Given the description of an element on the screen output the (x, y) to click on. 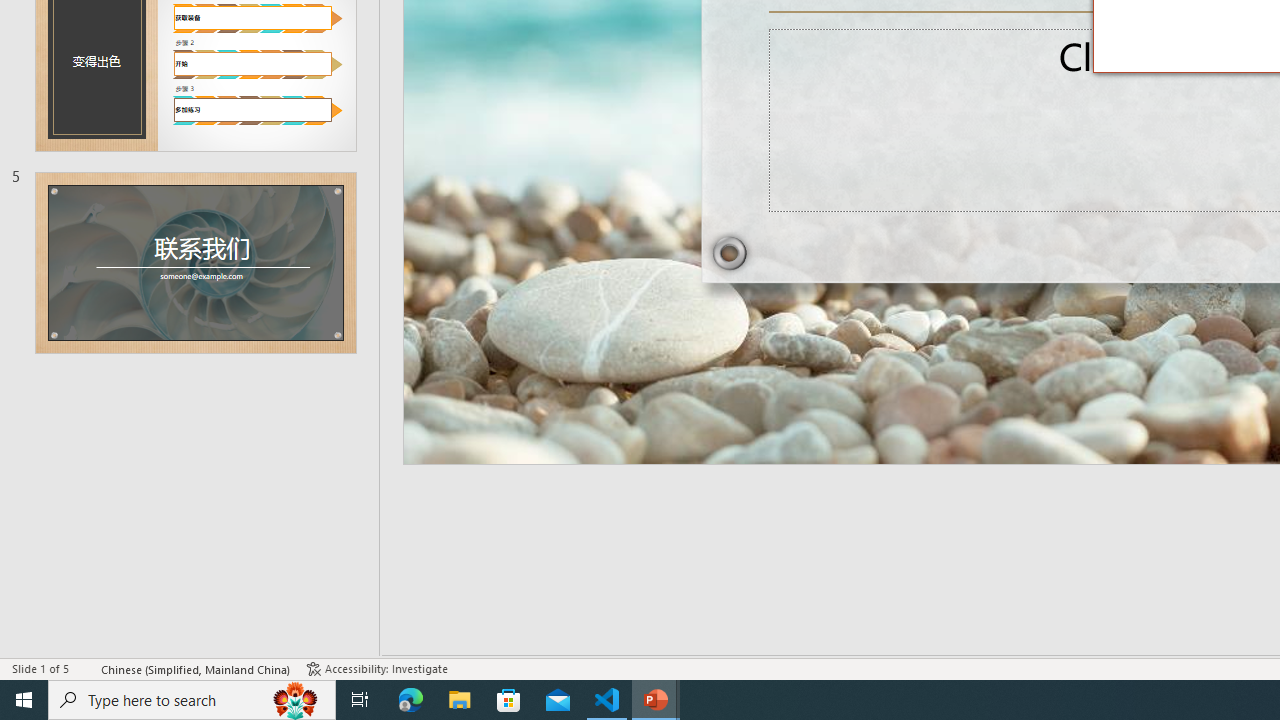
Spell Check  (86, 668)
PowerPoint - 2 running windows (656, 699)
